Given the description of an element on the screen output the (x, y) to click on. 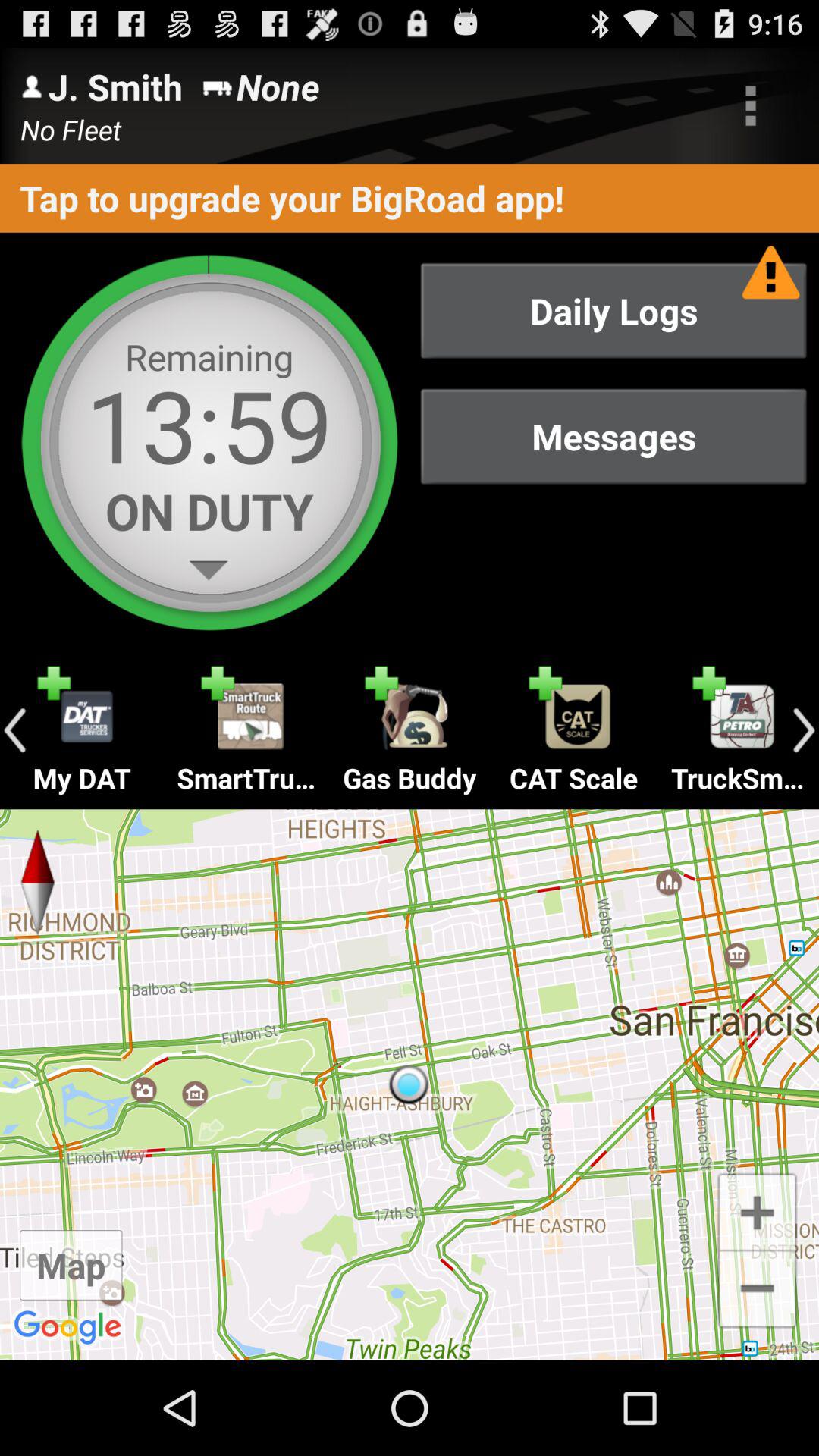
zoom (757, 1210)
